Given the description of an element on the screen output the (x, y) to click on. 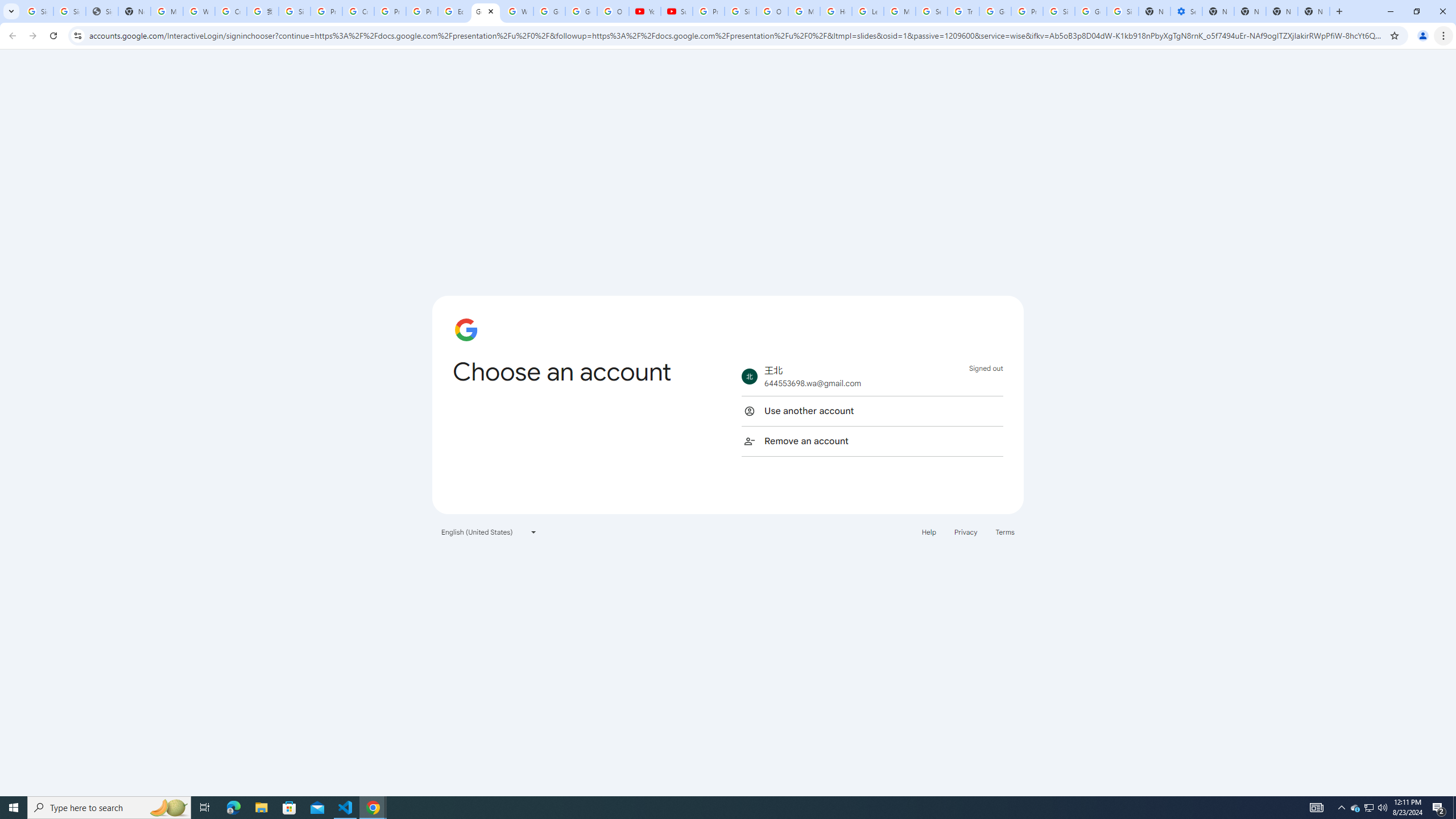
Trusted Information and Content - Google Safety Center (963, 11)
Use another account (871, 410)
Google Cybersecurity Innovations - Google Safety Center (1091, 11)
New Tab (1313, 11)
